Given the description of an element on the screen output the (x, y) to click on. 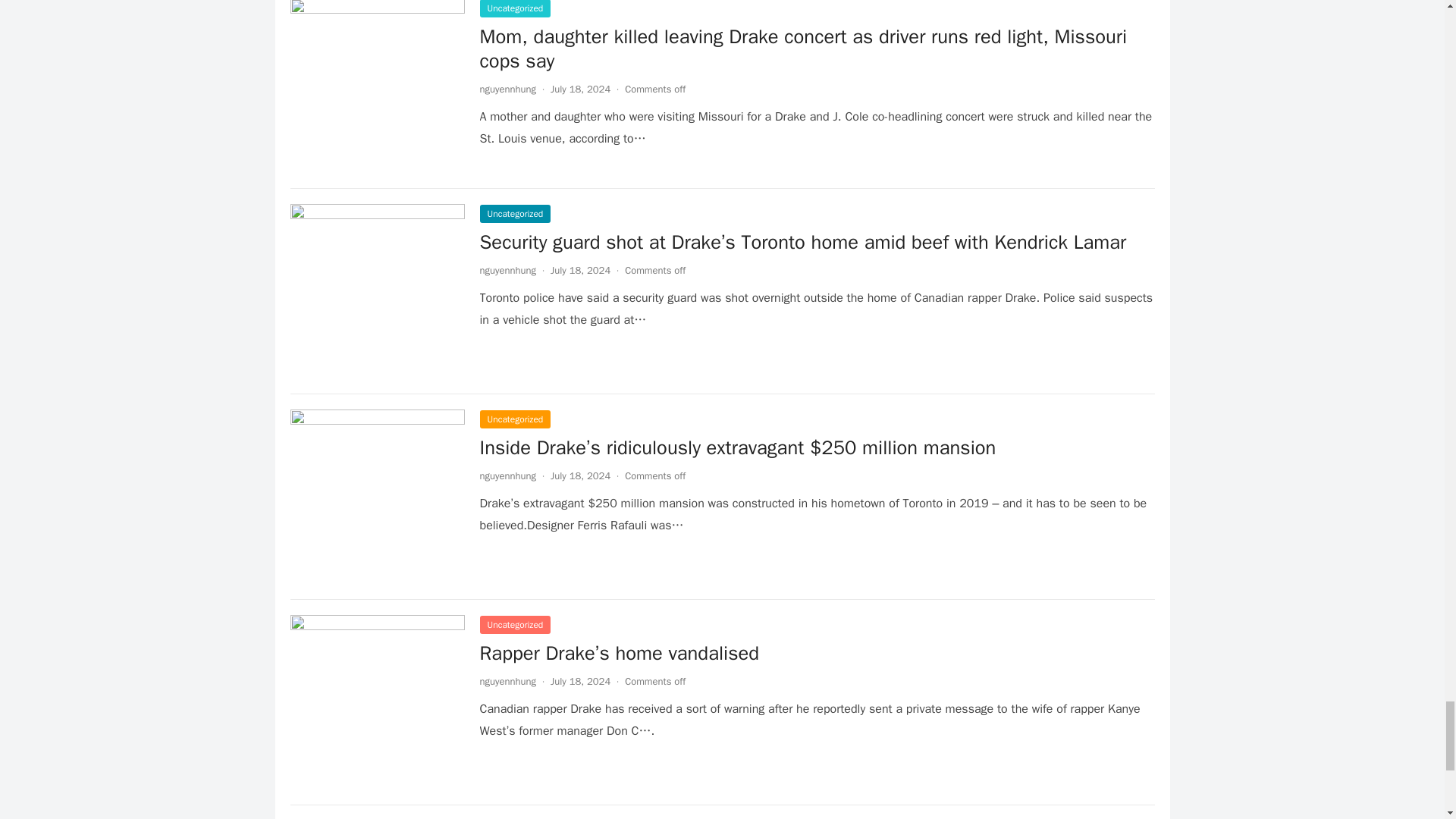
Posts by nguyennhung (507, 680)
Posts by nguyennhung (507, 88)
Posts by nguyennhung (507, 269)
Posts by nguyennhung (507, 475)
